Given the description of an element on the screen output the (x, y) to click on. 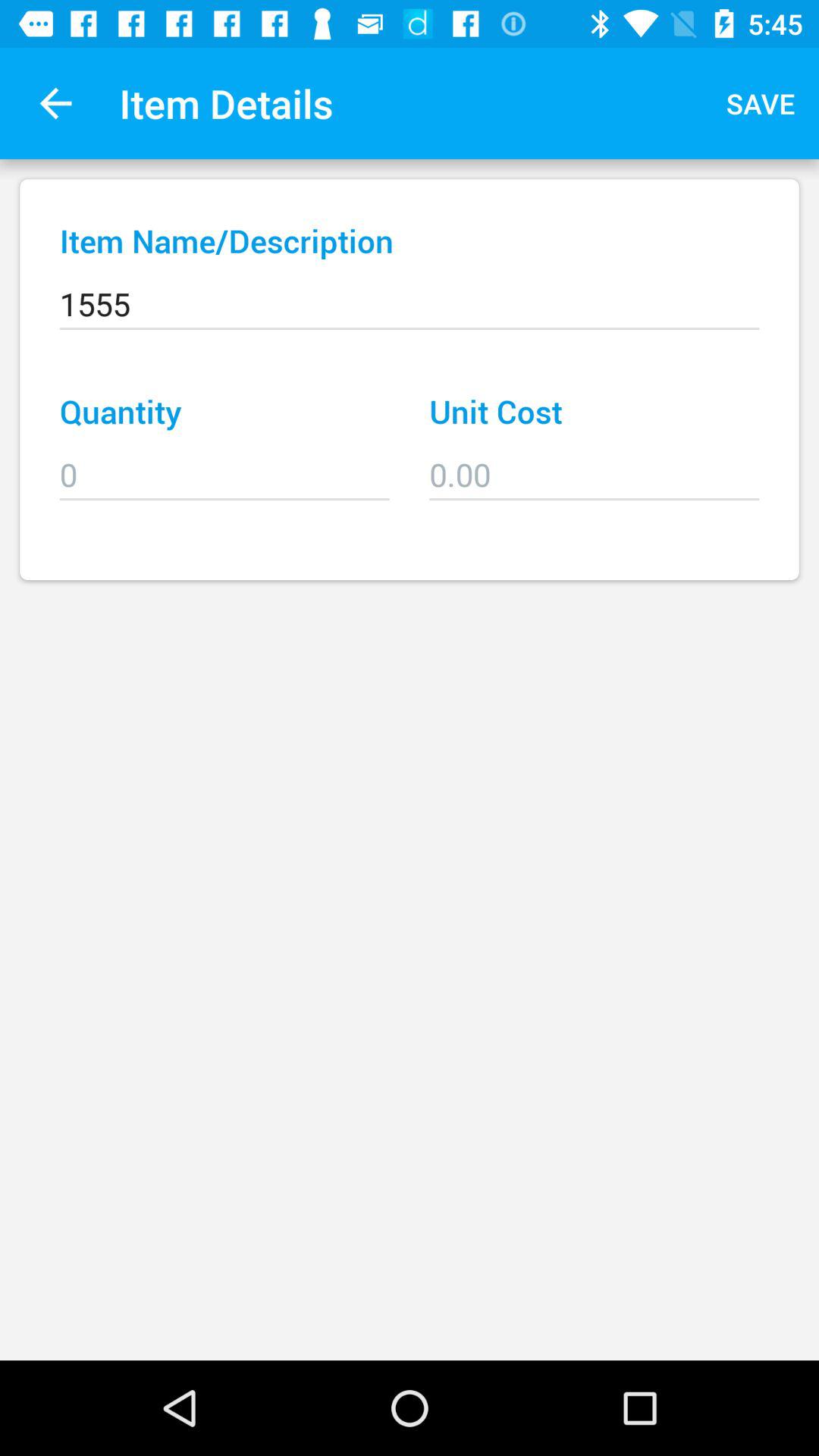
turn off item to the left of item details app (55, 103)
